Given the description of an element on the screen output the (x, y) to click on. 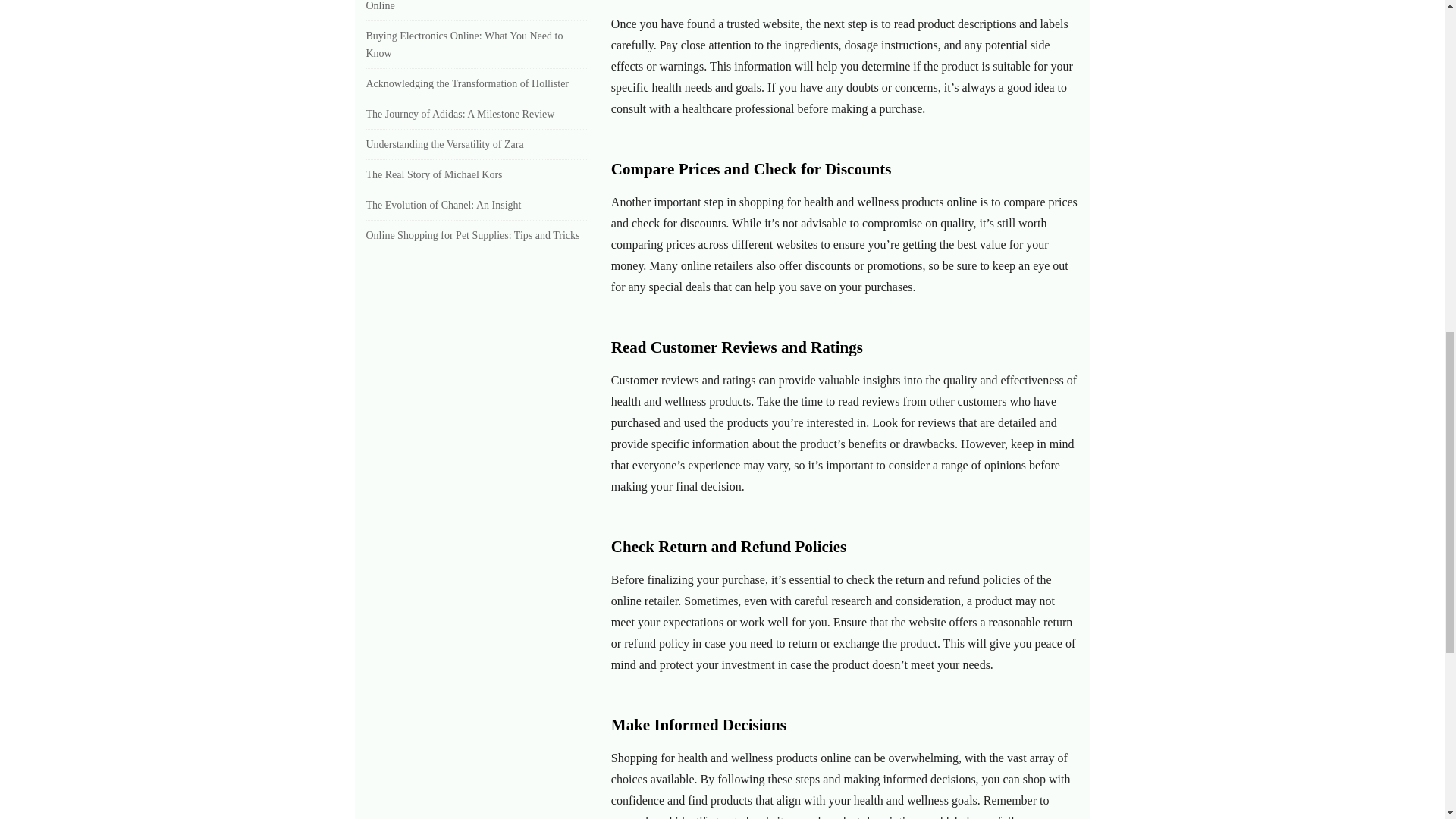
Acknowledging the Transformation of Hollister (467, 83)
Online Shopping for Pet Supplies: Tips and Tricks (472, 235)
The Journey of Adidas: A Milestone Review (459, 113)
The Evolution of Chanel: An Insight (443, 204)
Steps to Shopping Health and Wellness Products Online (468, 5)
The Real Story of Michael Kors (433, 174)
Buying Electronics Online: What You Need to Know (463, 44)
Understanding the Versatility of Zara (443, 143)
